Given the description of an element on the screen output the (x, y) to click on. 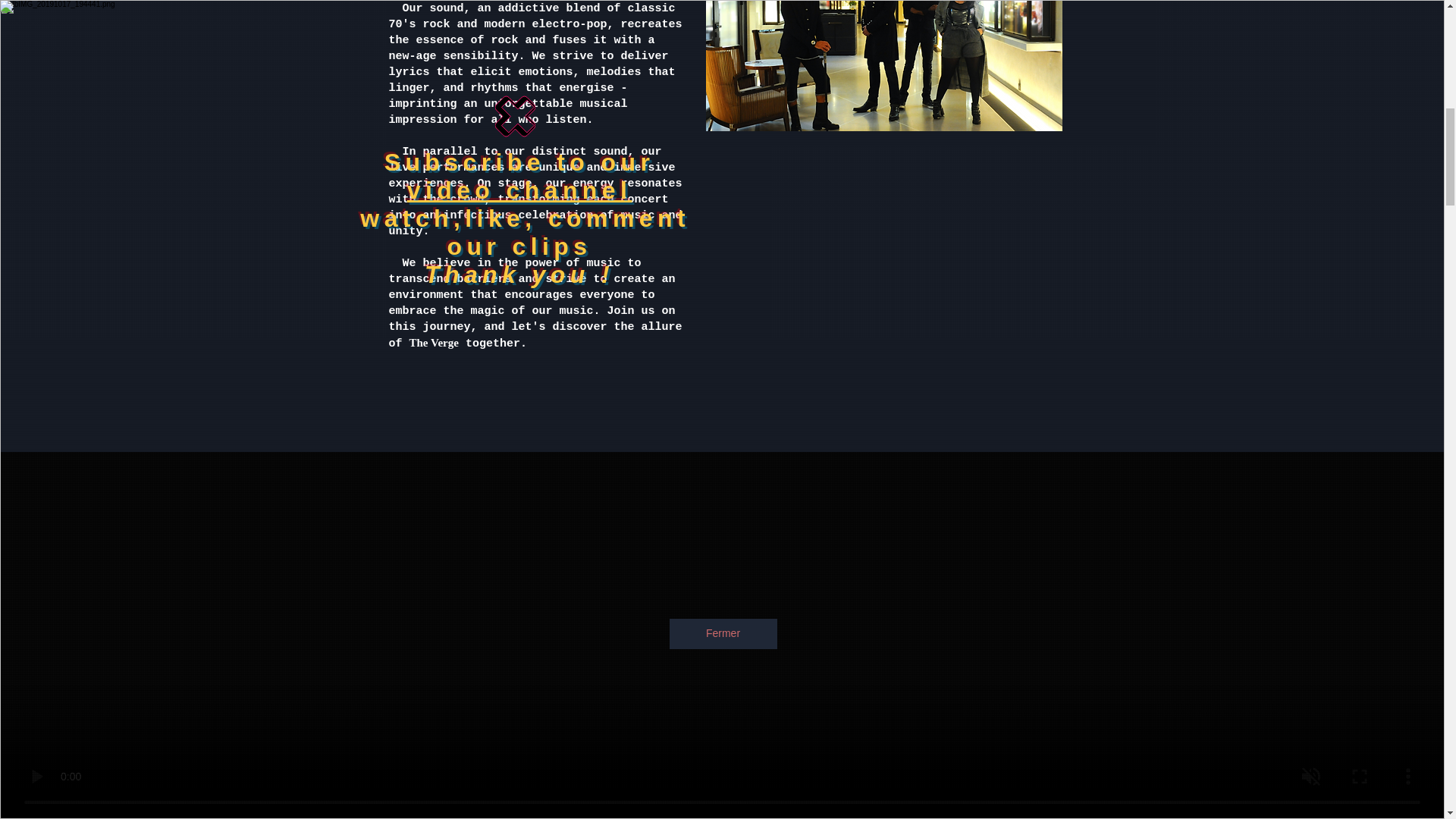
The Verge - Boodjie (882, 65)
